Given the description of an element on the screen output the (x, y) to click on. 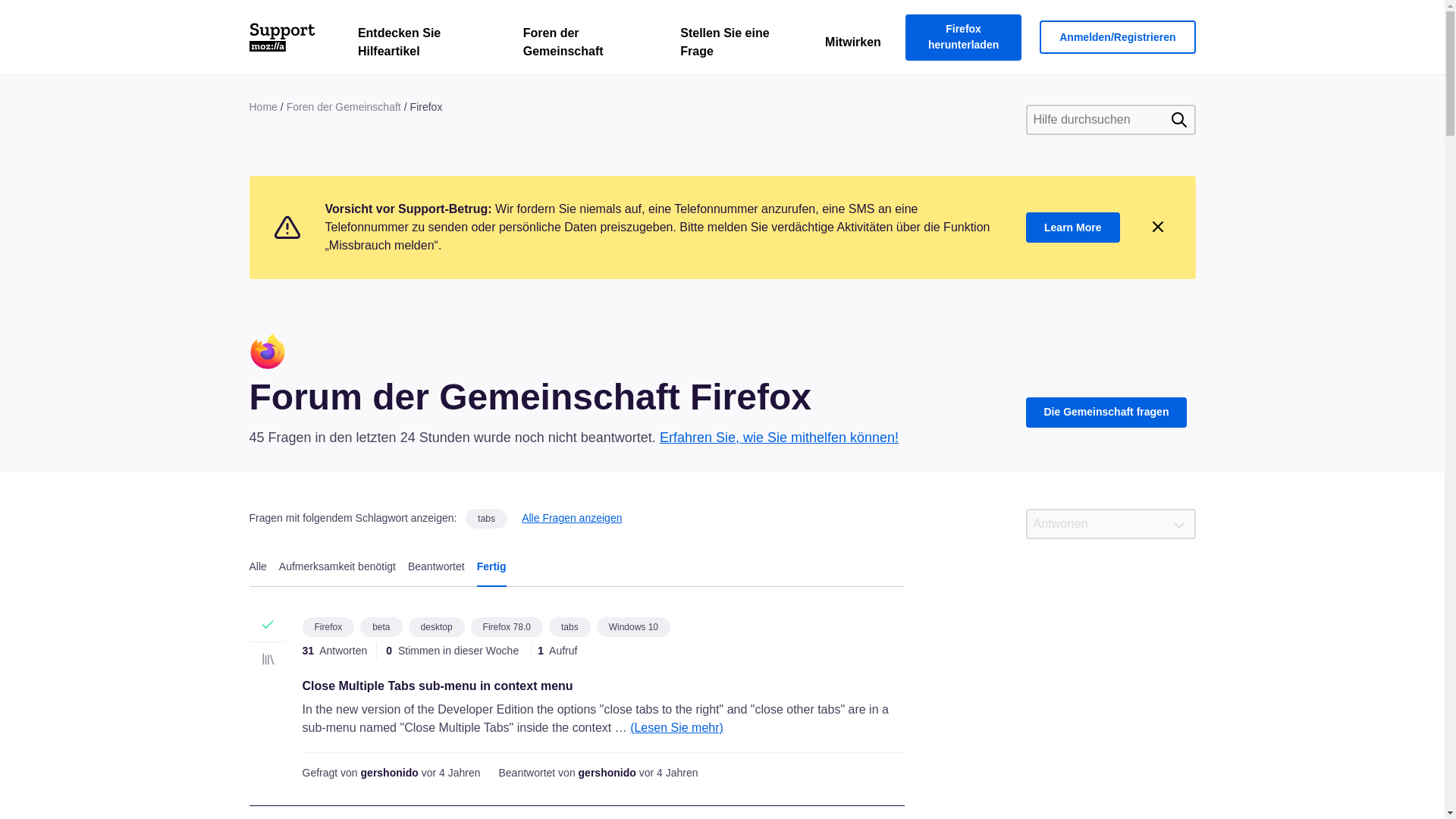
Stellen Sie eine Frage (734, 46)
Foren der Gemeinschaft (583, 46)
Suche (1178, 119)
Entdecken Sie Hilfeartikel (422, 46)
